Given the description of an element on the screen output the (x, y) to click on. 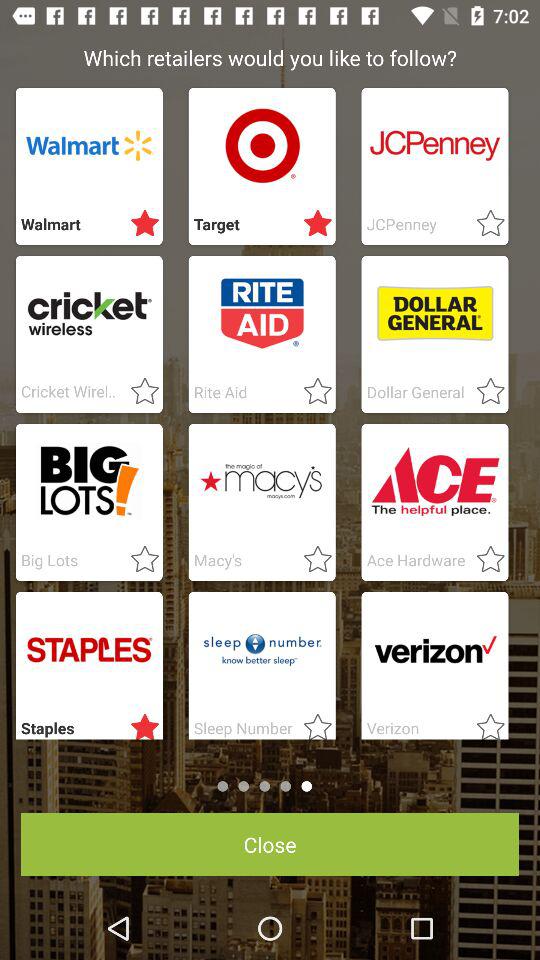
go to rating (312, 392)
